Given the description of an element on the screen output the (x, y) to click on. 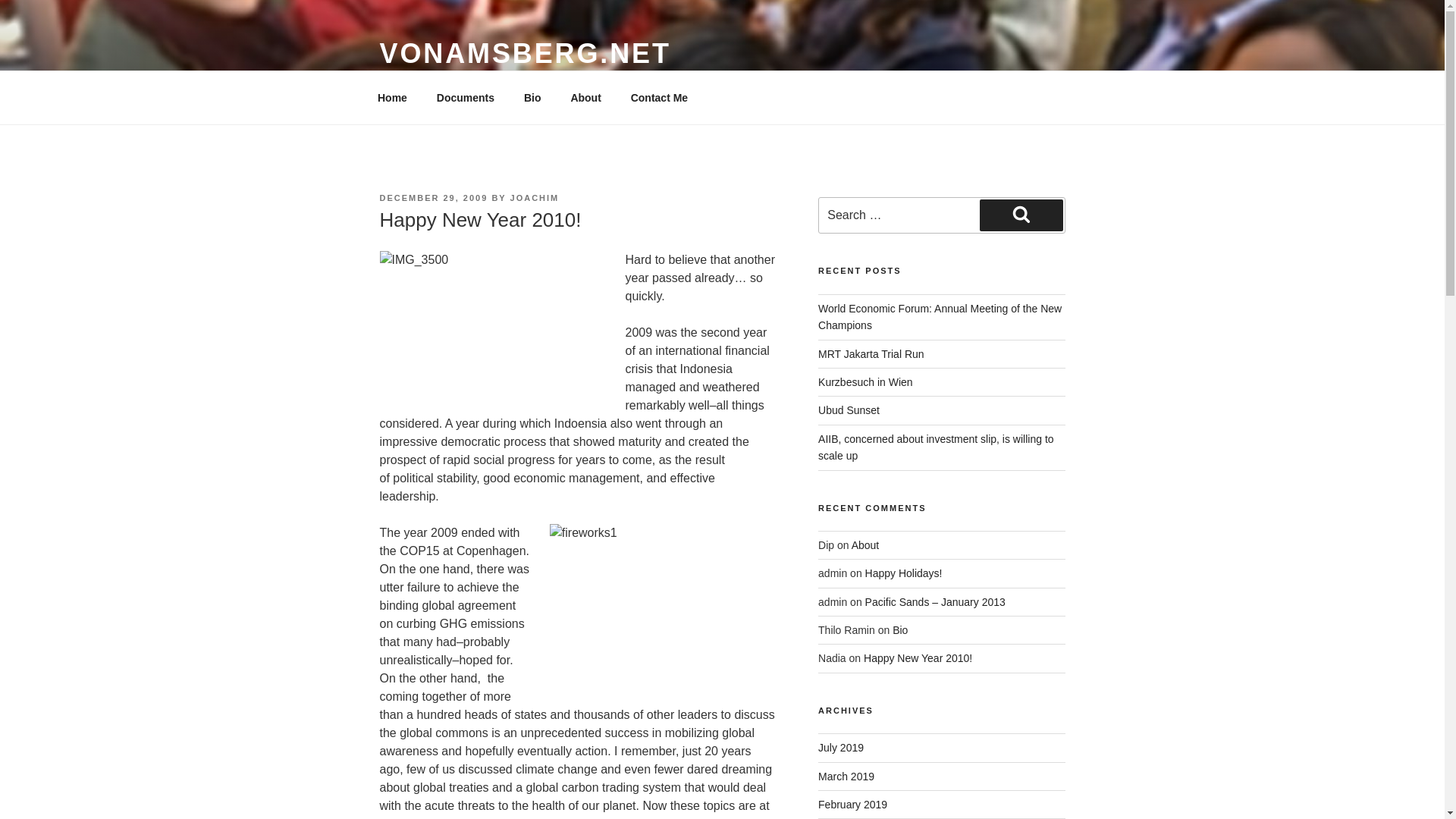
About (865, 544)
JOACHIM (535, 197)
February 2019 (852, 804)
VONAMSBERG.NET (523, 52)
Search (1020, 214)
About (585, 97)
MRT Jakarta Trial Run (871, 354)
July 2019 (840, 747)
Happy Holidays! (903, 573)
Documents (464, 97)
DECEMBER 29, 2009 (432, 197)
Contact Me (658, 97)
March 2019 (846, 776)
Kurzbesuch in Wien (865, 381)
